Given the description of an element on the screen output the (x, y) to click on. 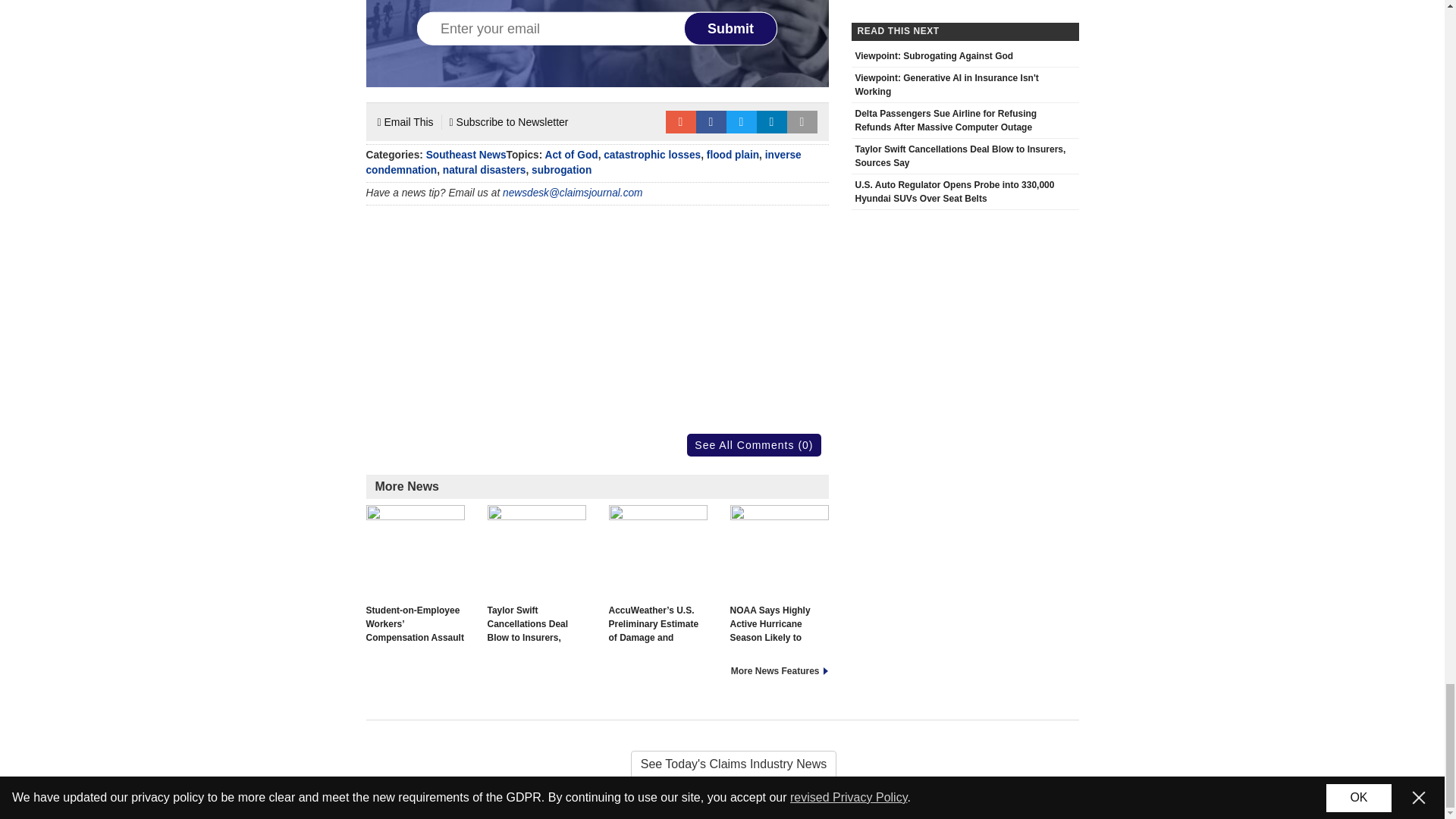
Subscribe to Newsletter (509, 121)
Print Article (801, 121)
Share on LinkedIn. (772, 121)
Post to Facebook. (710, 121)
See Today's Claims Industry News (721, 764)
Email This (405, 121)
Email to a friend (680, 121)
Email to a friend (680, 121)
Submit (730, 28)
See Today's Claims Industry News (721, 764)
